Given the description of an element on the screen output the (x, y) to click on. 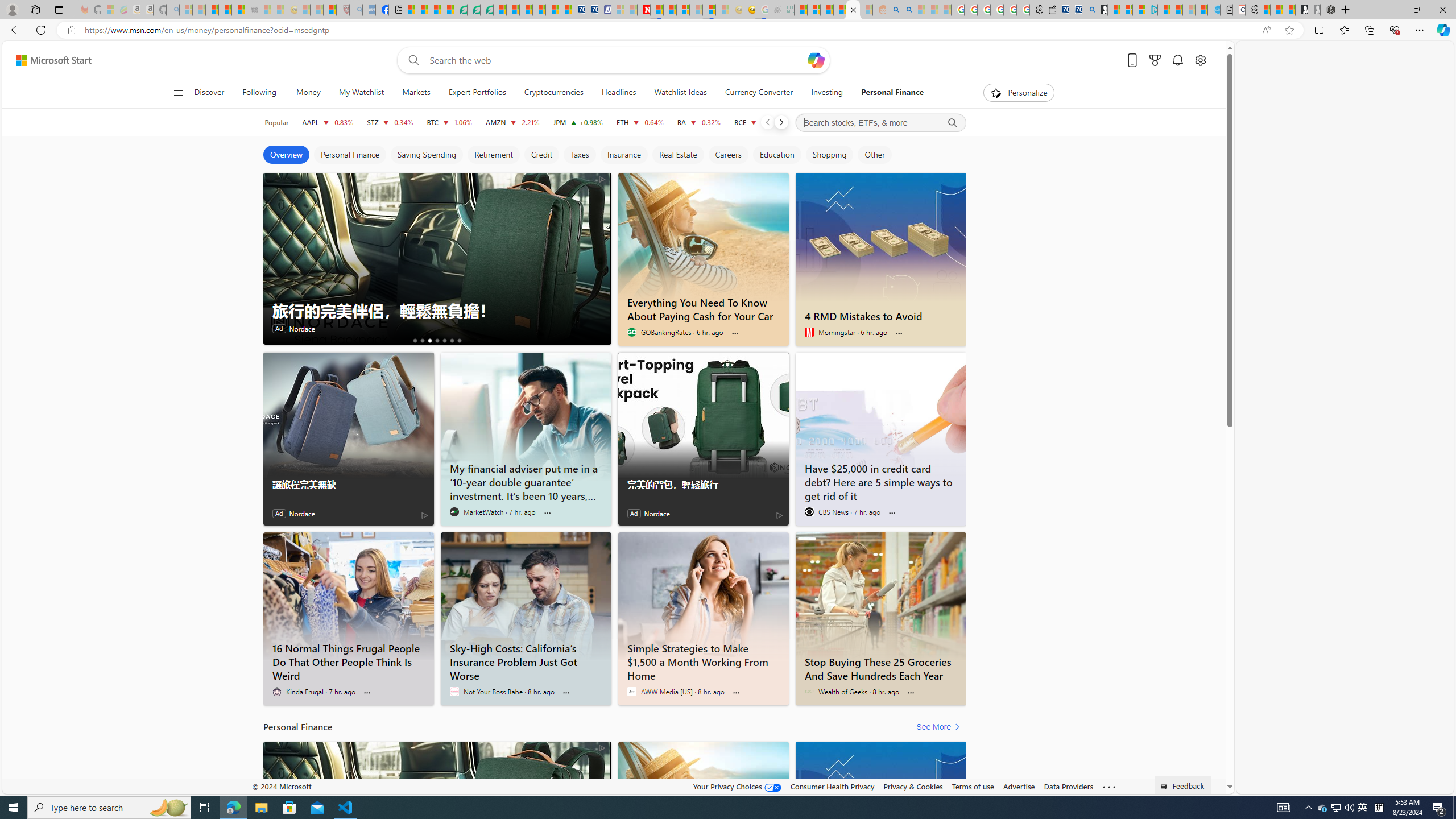
Currency Converter (759, 92)
Investing (827, 92)
Headlines (618, 92)
Markets (416, 92)
Cryptocurrencies (553, 92)
